Given the description of an element on the screen output the (x, y) to click on. 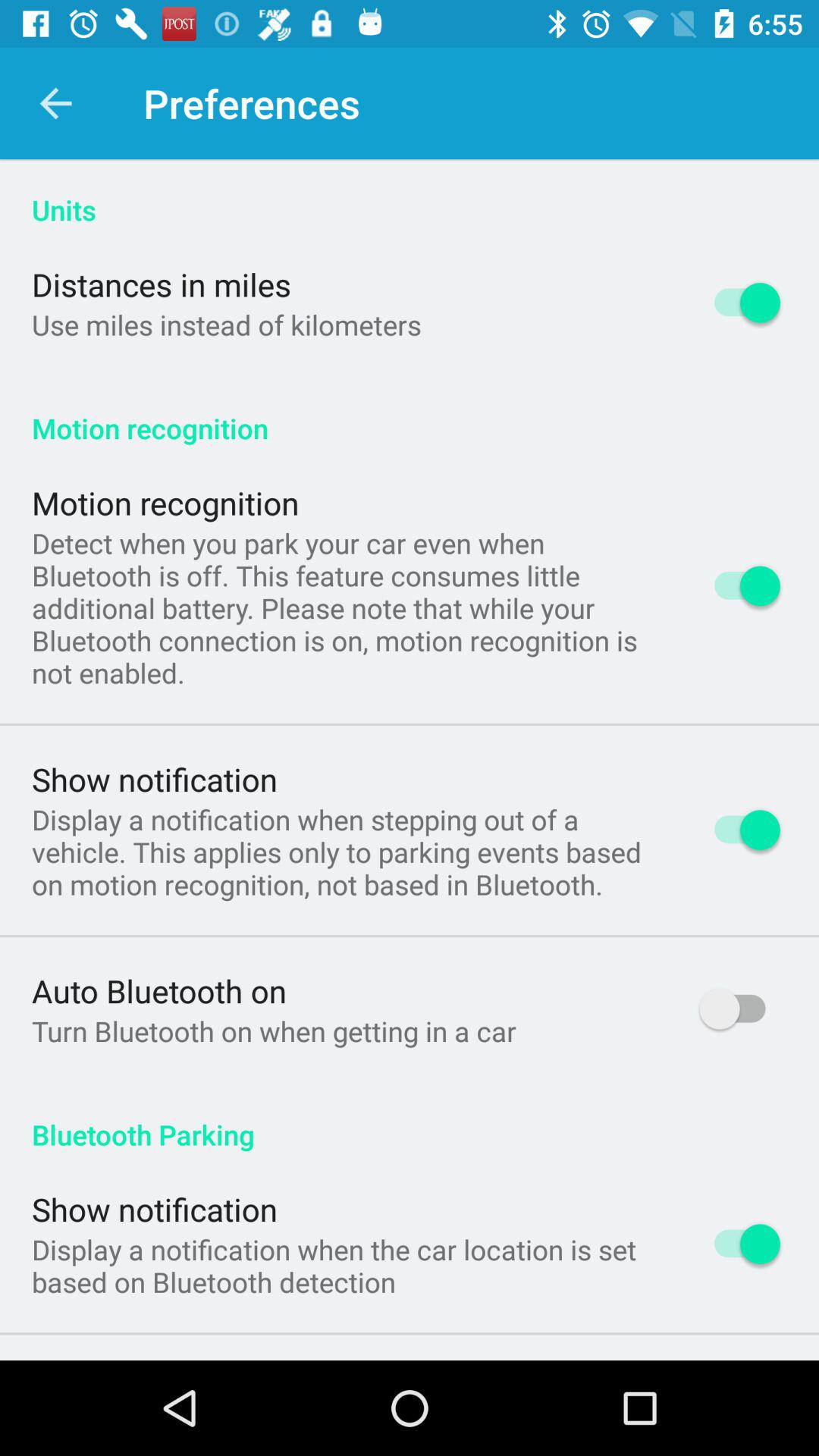
jump to distances in miles (161, 283)
